Given the description of an element on the screen output the (x, y) to click on. 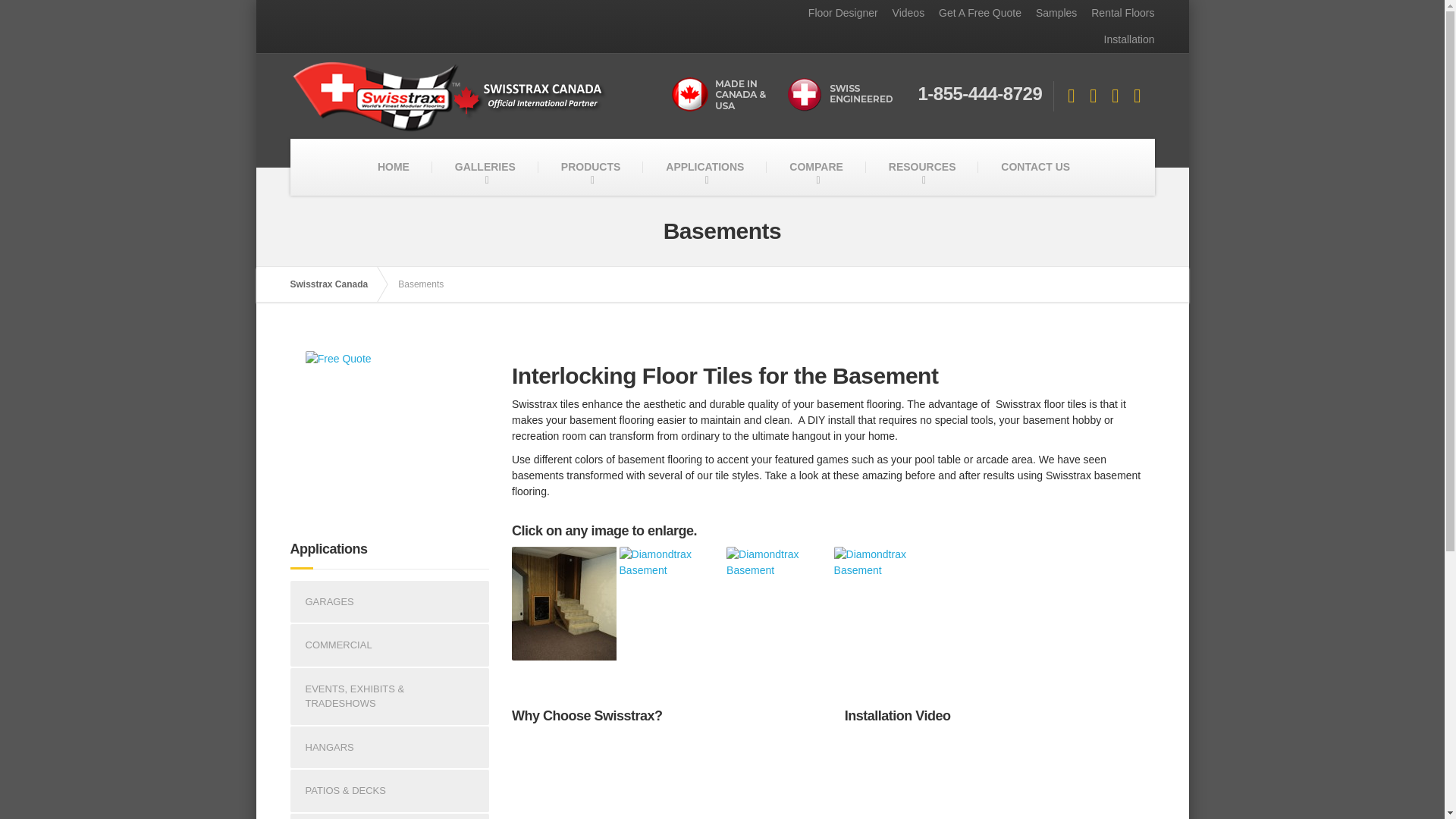
Installation (1123, 39)
YouTube video player (663, 775)
GALLERIES (485, 166)
Floor Designer (836, 13)
Get A Free Quote (974, 13)
Go to Swisstrax Canada. (335, 284)
COMPARE (816, 166)
APPLICATIONS (705, 166)
Rental Floors (1117, 13)
Videos (902, 13)
